Given the description of an element on the screen output the (x, y) to click on. 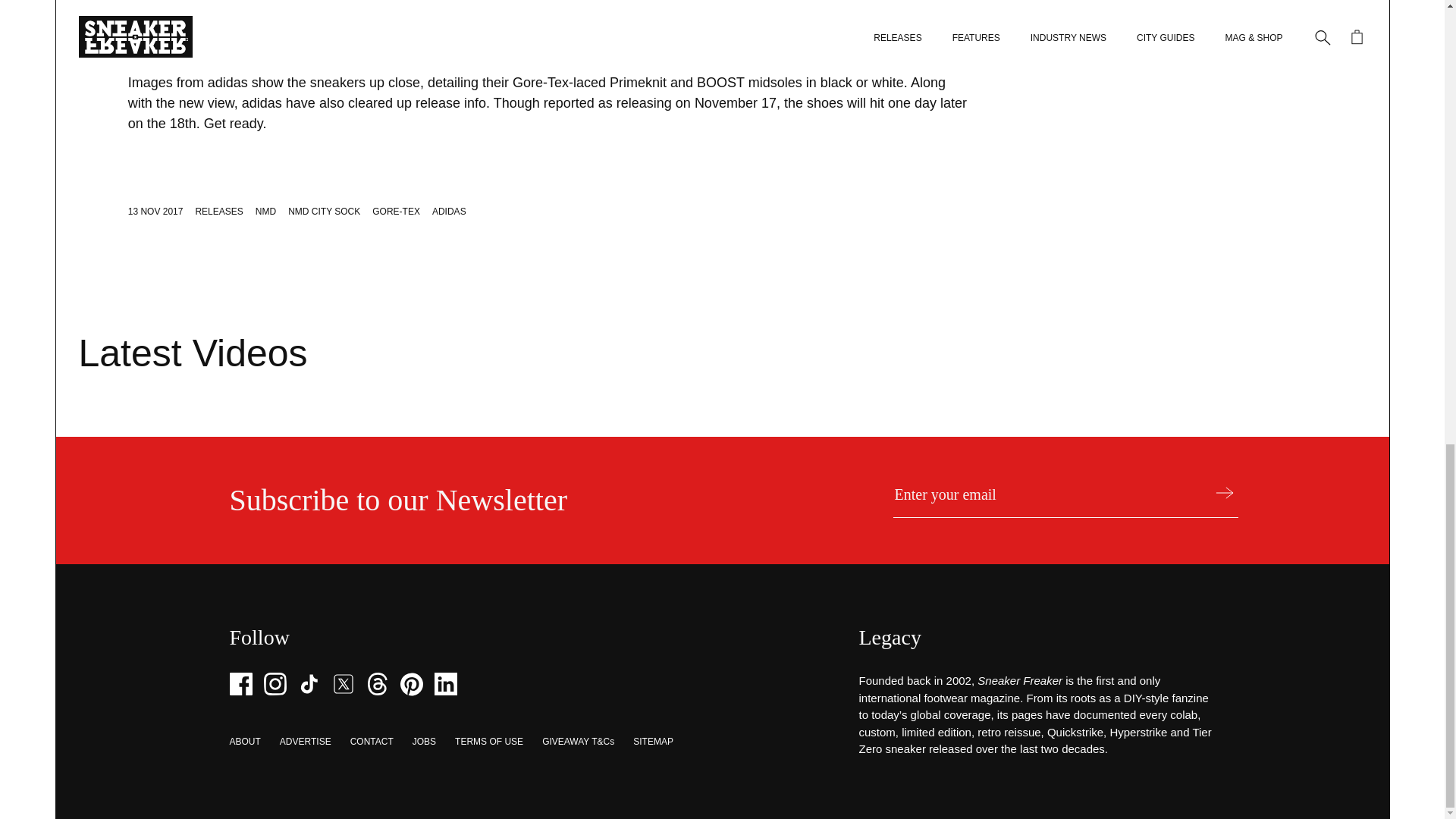
CONTACT (371, 741)
SITEMAP (652, 741)
ADVERTISE (305, 741)
NMD CITY SOCK (323, 211)
JOBS (423, 741)
TERMS OF USE (488, 741)
RELEASES (219, 211)
NMD (266, 211)
ABOUT (244, 741)
GORE-TEX (396, 211)
ADIDAS (448, 211)
